Given the description of an element on the screen output the (x, y) to click on. 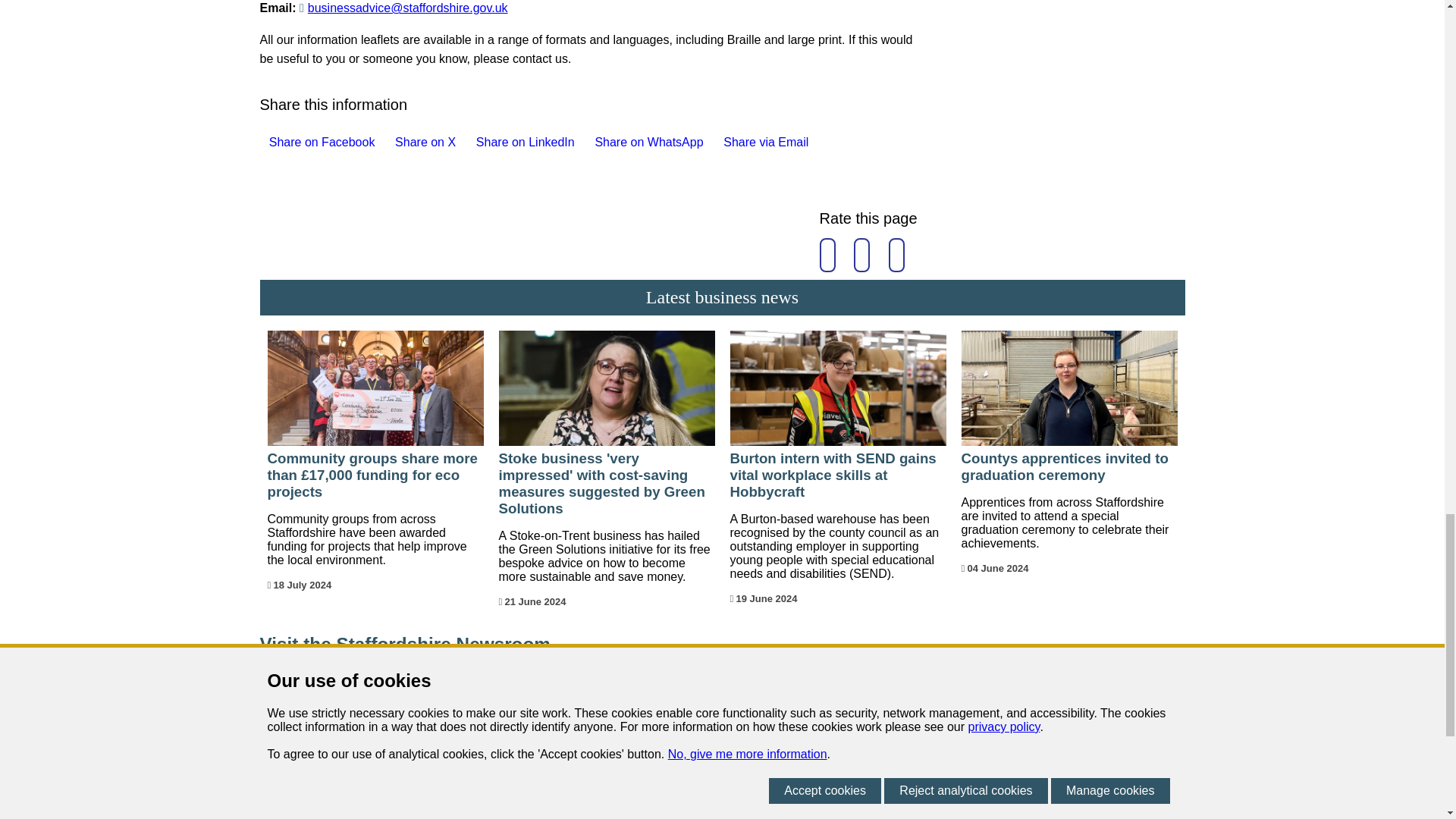
 Share on Facebook (316, 142)
Share on LinkedIn (471, 142)
 Share via Email (761, 142)
 Share on X (420, 142)
Share on X (389, 142)
 Share on LinkedIn (521, 142)
Share this page on Facebook (263, 142)
 Share on WhatsApp (644, 142)
